Given the description of an element on the screen output the (x, y) to click on. 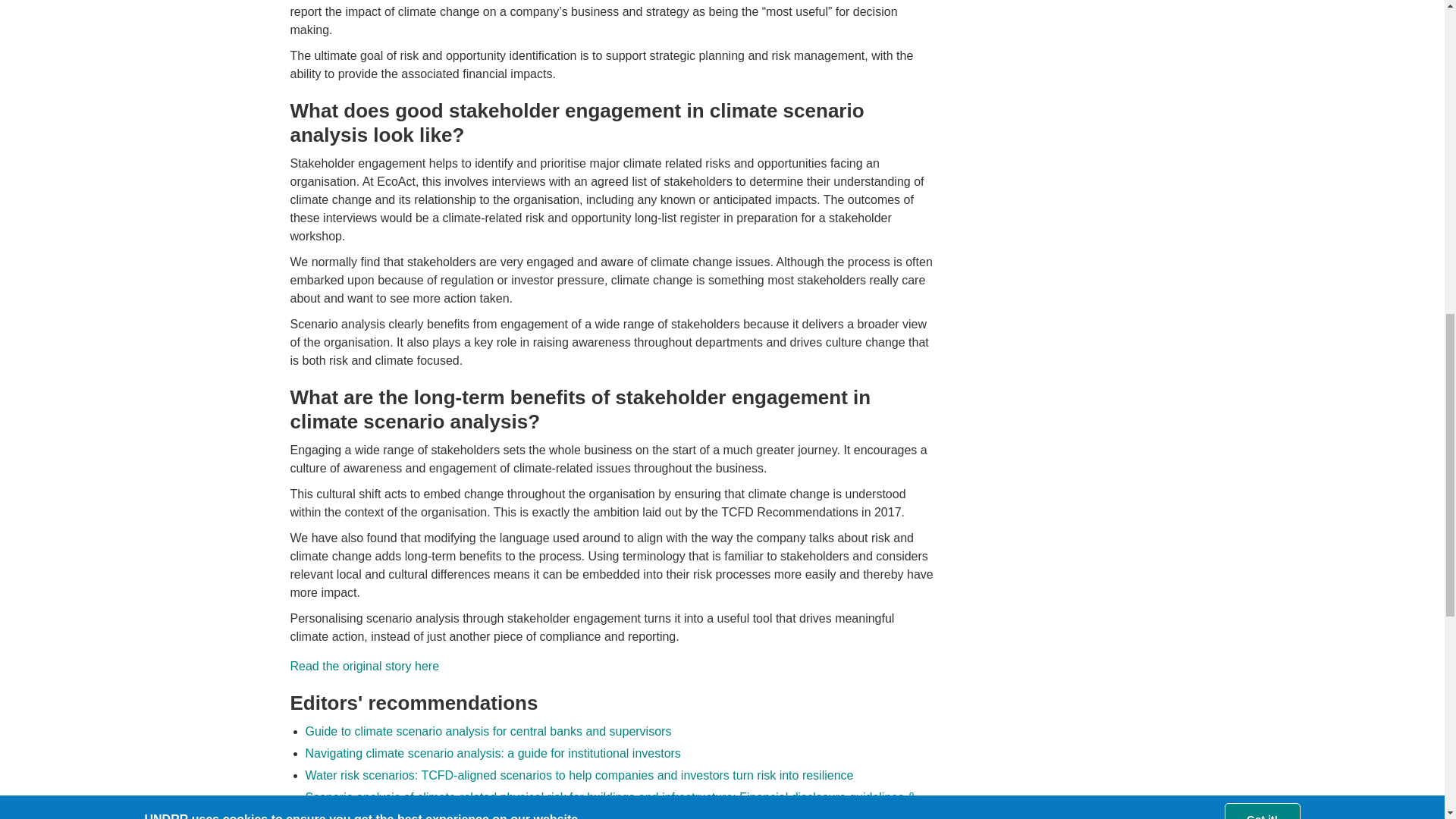
Read the original story here (364, 666)
